Given the description of an element on the screen output the (x, y) to click on. 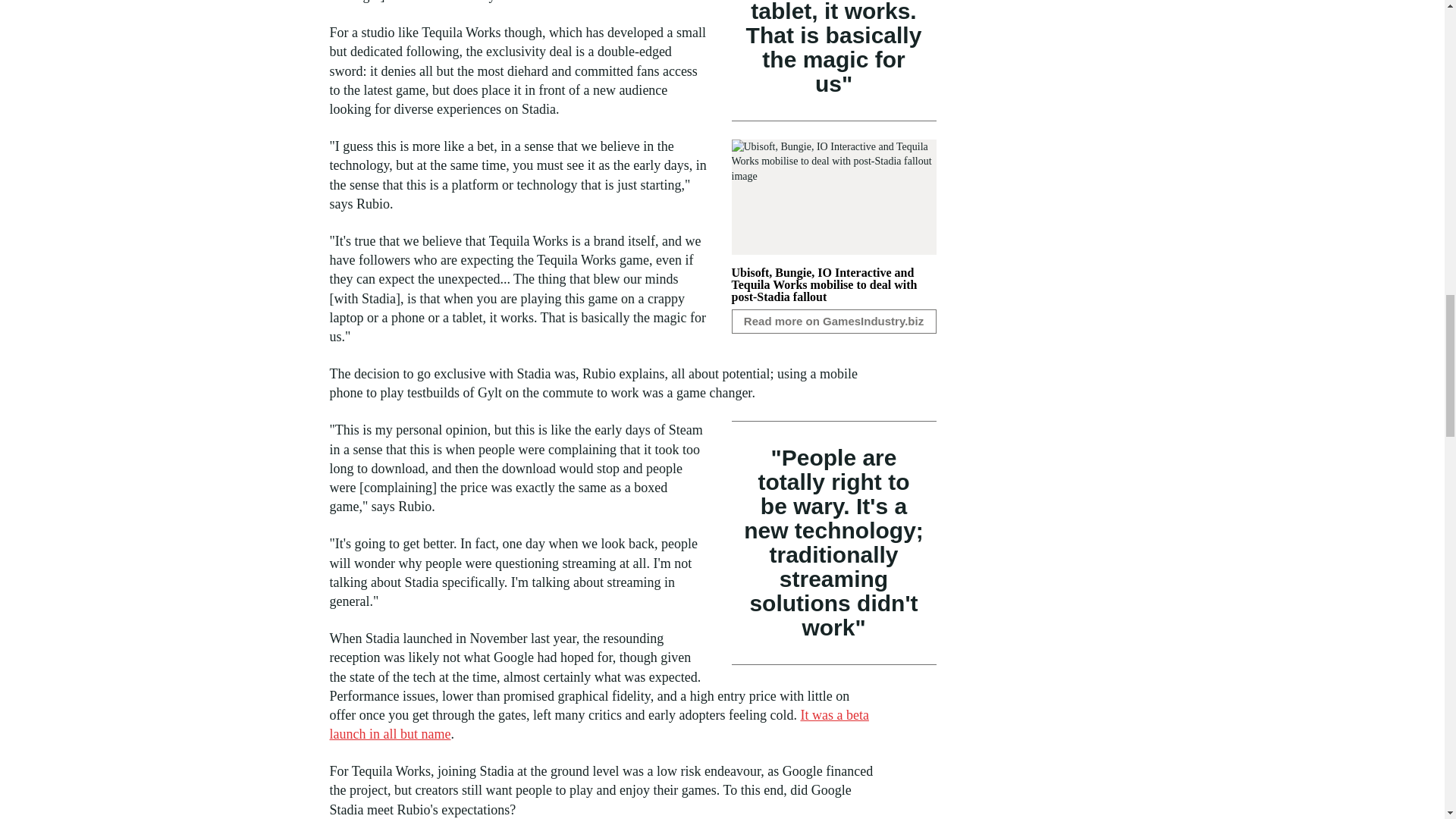
Read more on GamesIndustry.biz (833, 321)
It was a beta launch in all but name (598, 724)
